Given the description of an element on the screen output the (x, y) to click on. 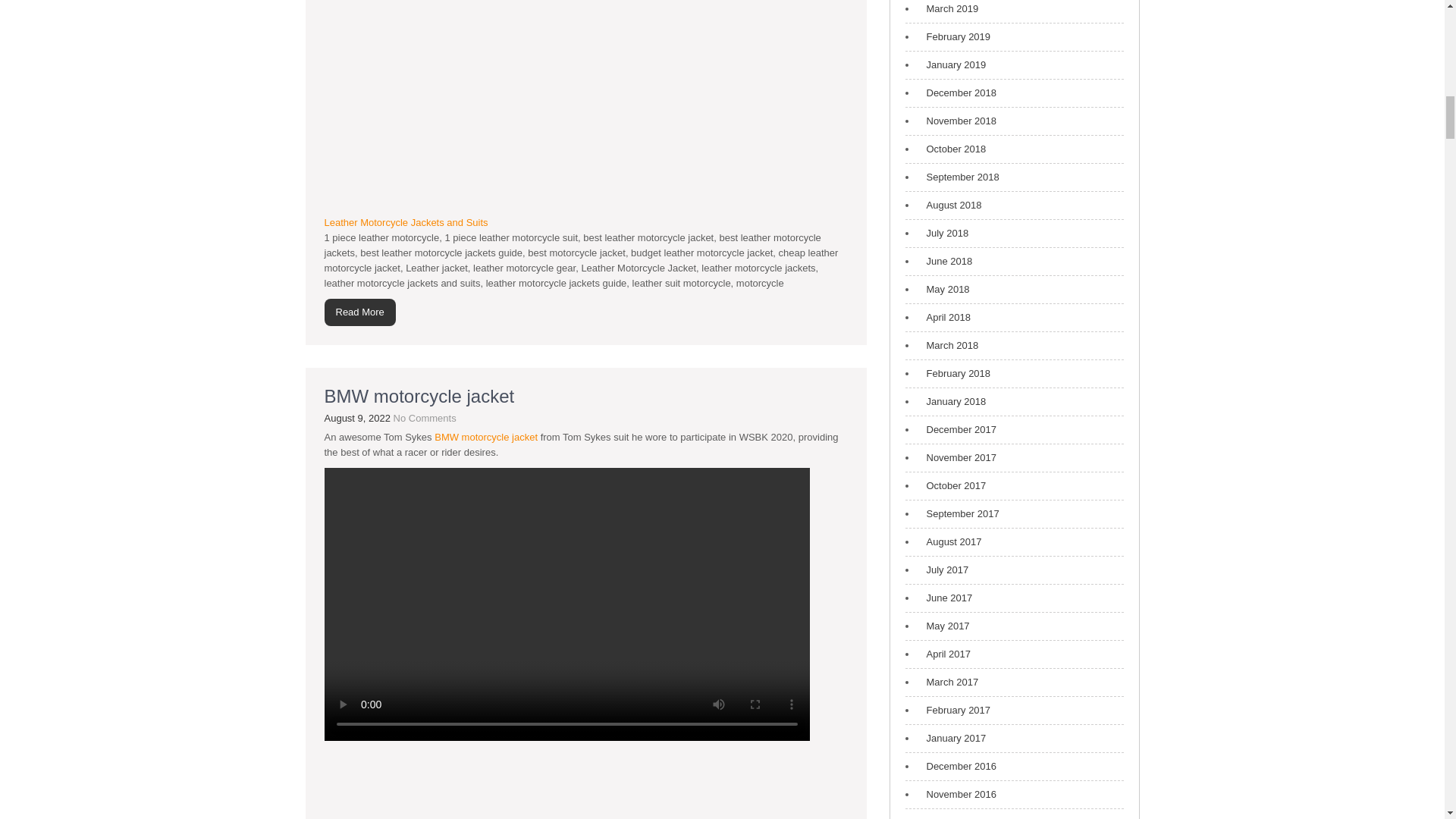
BMW motorcycle jacket (485, 437)
Leather Motorcycle Jackets and Suits (405, 222)
BMW motorcycle jacket (419, 395)
No Comments (425, 418)
Read More (360, 311)
